Given the description of an element on the screen output the (x, y) to click on. 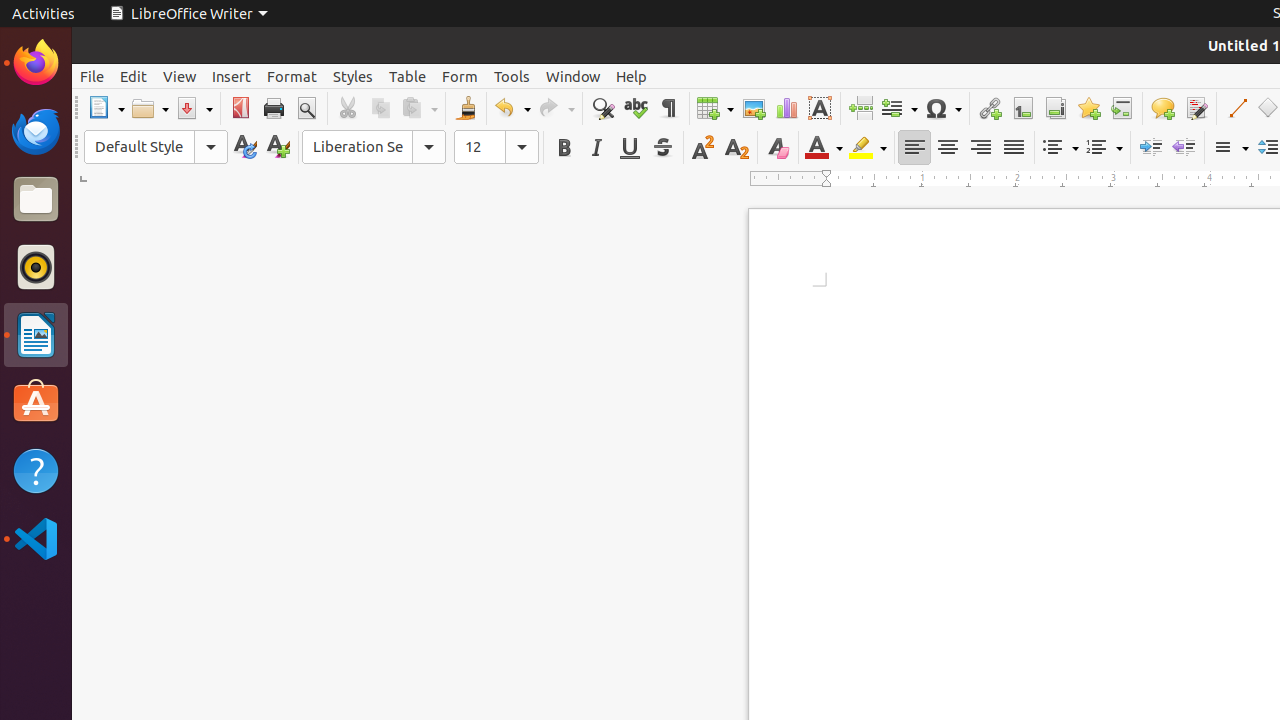
Tools Element type: menu (512, 76)
Image Element type: push-button (753, 108)
Cut Element type: push-button (347, 108)
Line Spacing Element type: push-button (1230, 147)
Insert Element type: menu (231, 76)
